Given the description of an element on the screen output the (x, y) to click on. 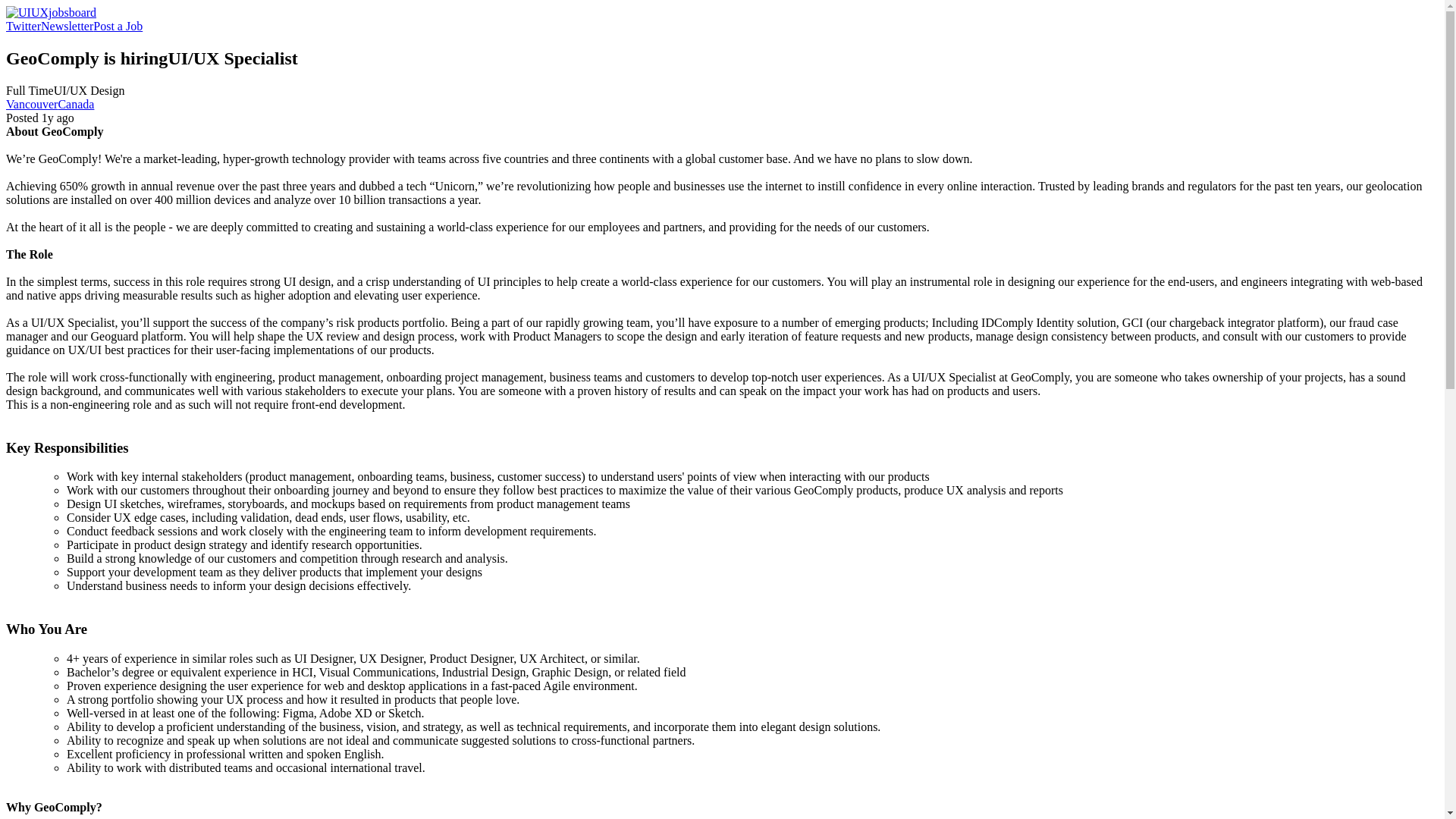
Post a Job (117, 25)
Newsletter (66, 25)
Canada (76, 103)
Twitter (22, 25)
Vancouver (31, 103)
